Given the description of an element on the screen output the (x, y) to click on. 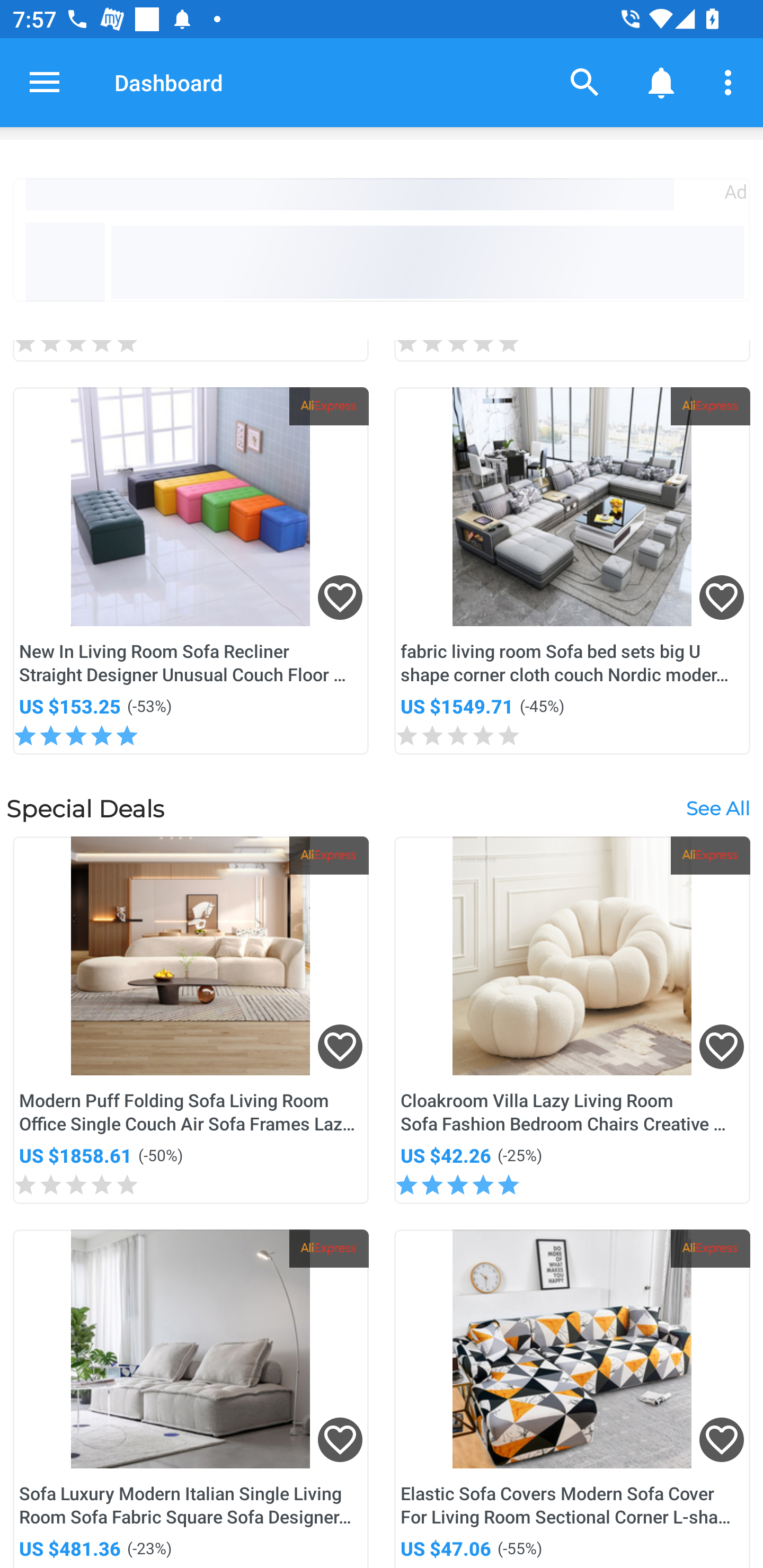
Open navigation drawer (44, 82)
Search (585, 81)
More options (731, 81)
See All (717, 807)
